Given the description of an element on the screen output the (x, y) to click on. 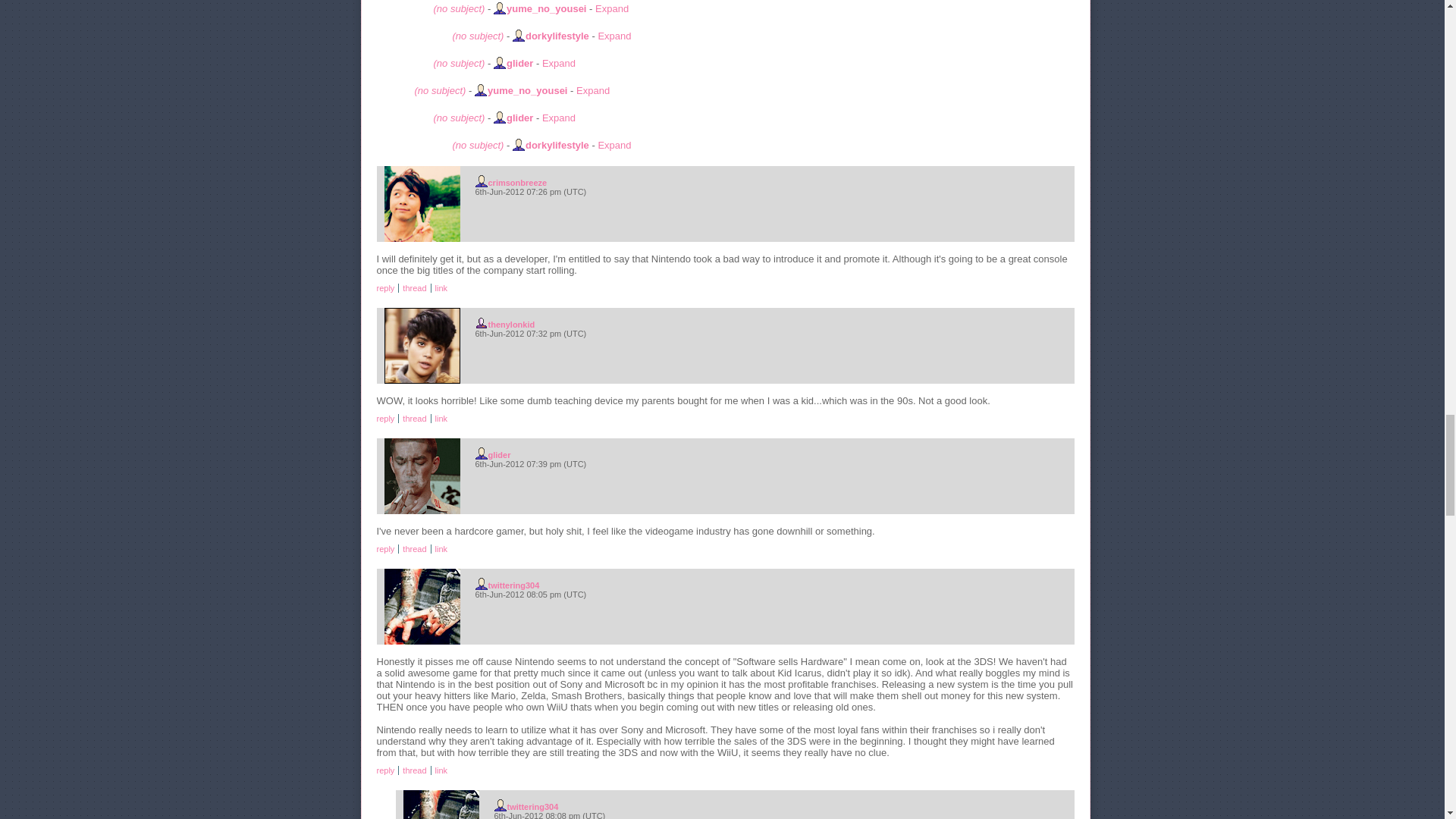
16 minutes after journal entry (774, 333)
52 minutes after journal entry (784, 815)
49 minutes after journal entry (774, 593)
